Given the description of an element on the screen output the (x, y) to click on. 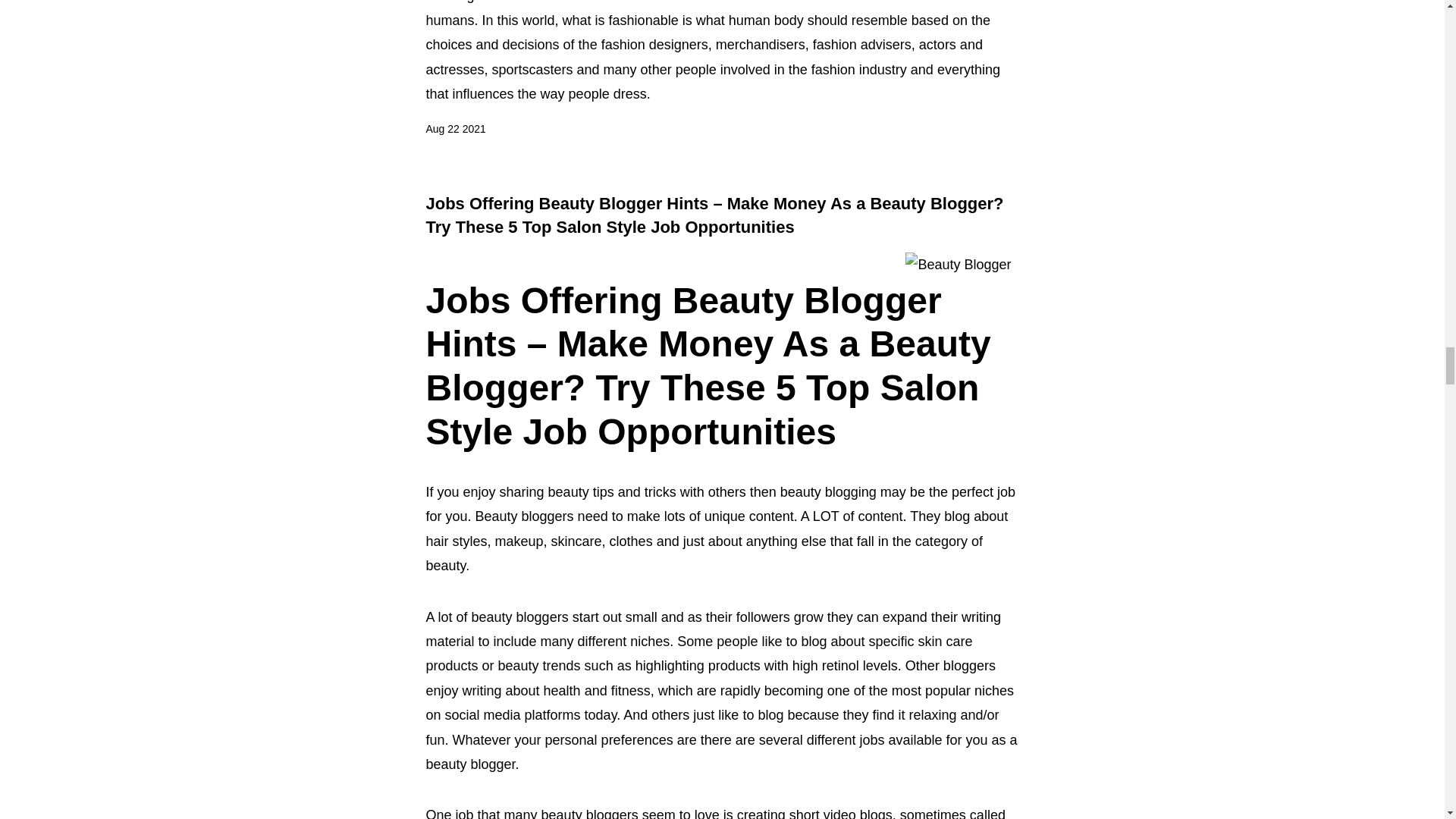
Aug 22 2021 (456, 129)
